Given the description of an element on the screen output the (x, y) to click on. 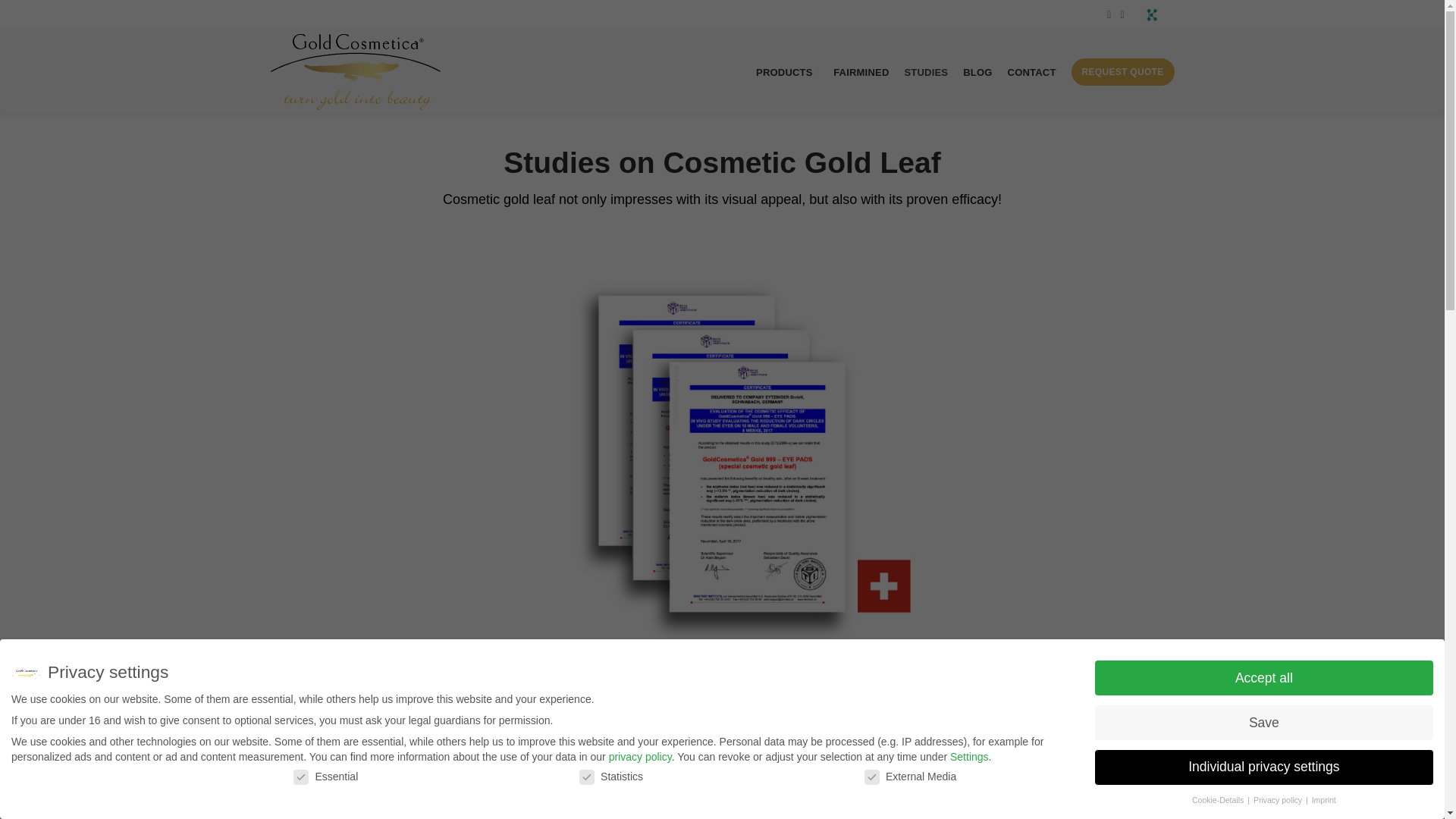
CONTACT (1032, 71)
REQUEST QUOTE (1122, 71)
Privacy policy (1278, 799)
Individual privacy settings (1263, 767)
Cookie-Details (1219, 799)
Imprint (1323, 799)
STUDIES (925, 71)
BLOG (976, 71)
Settings (969, 756)
privacy policy (639, 756)
Save (1263, 722)
FAIRMINED (860, 71)
PRODUCTS (786, 71)
Accept all (1263, 677)
